Given the description of an element on the screen output the (x, y) to click on. 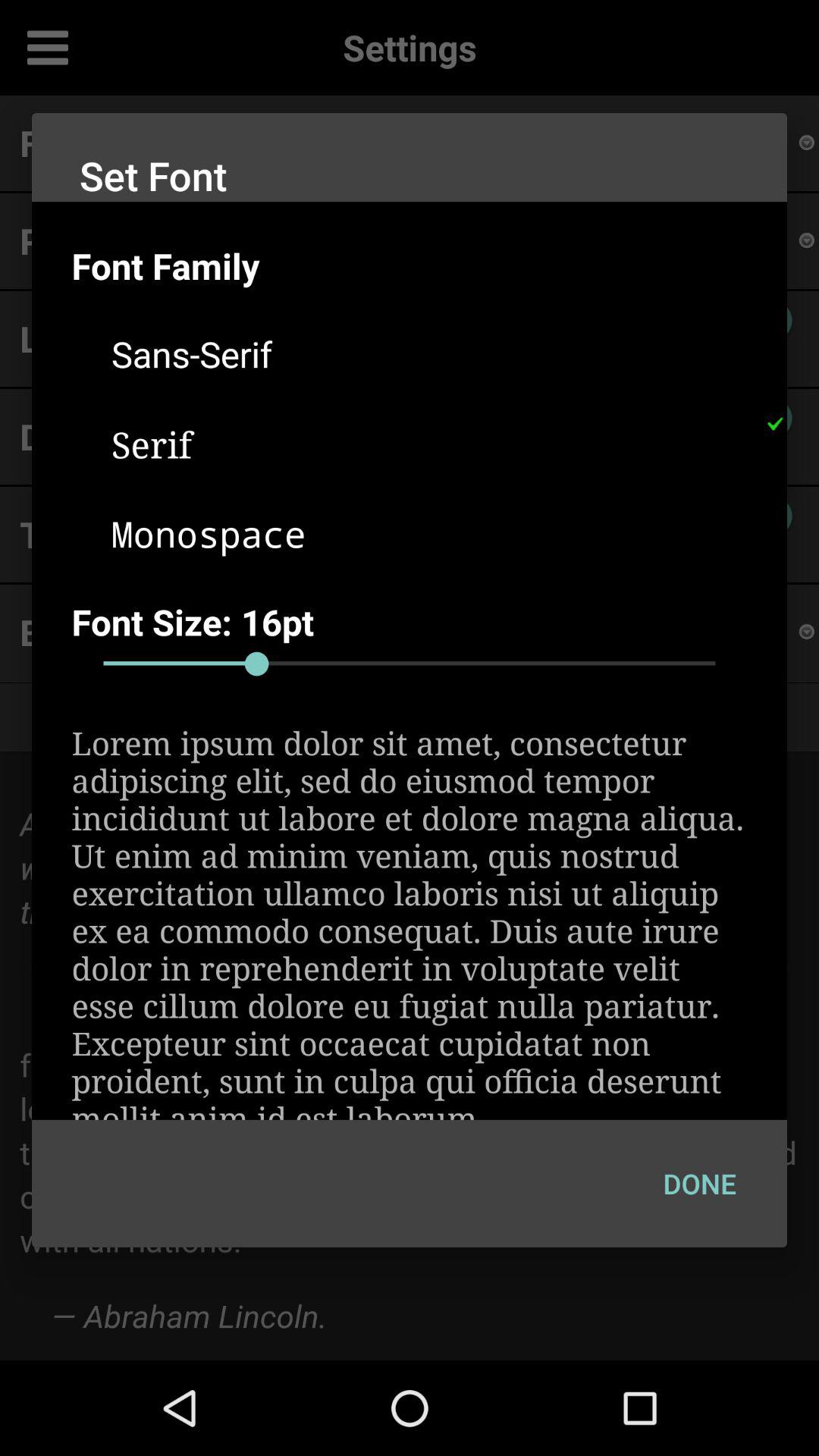
tap the lorem ipsum dolor (409, 920)
